Given the description of an element on the screen output the (x, y) to click on. 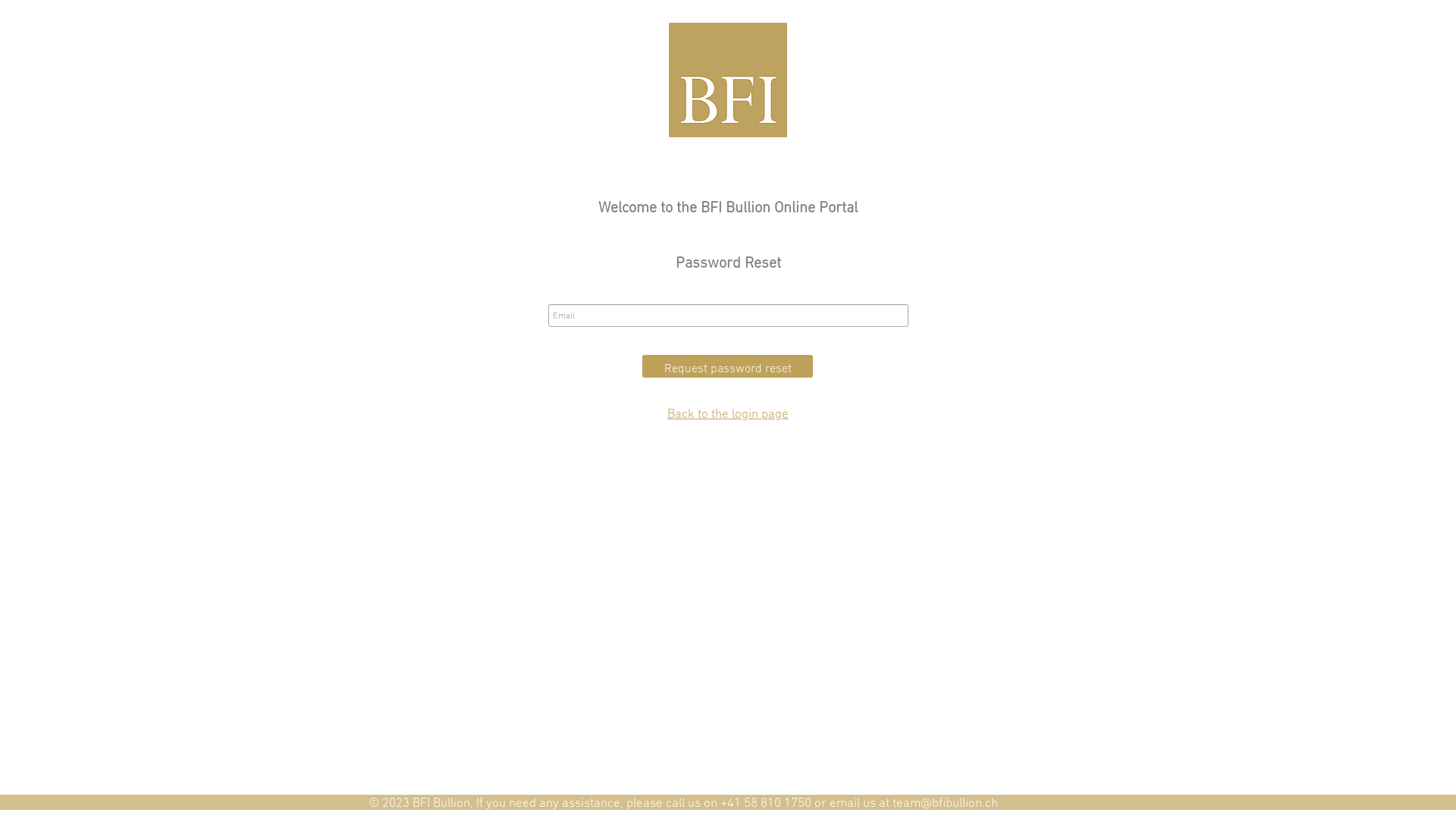
Request password reset Element type: text (727, 365)
team@bfibullion.ch Element type: text (944, 801)
+41 58 810 1750 Element type: text (765, 801)
Back to the login page Element type: text (727, 412)
